Given the description of an element on the screen output the (x, y) to click on. 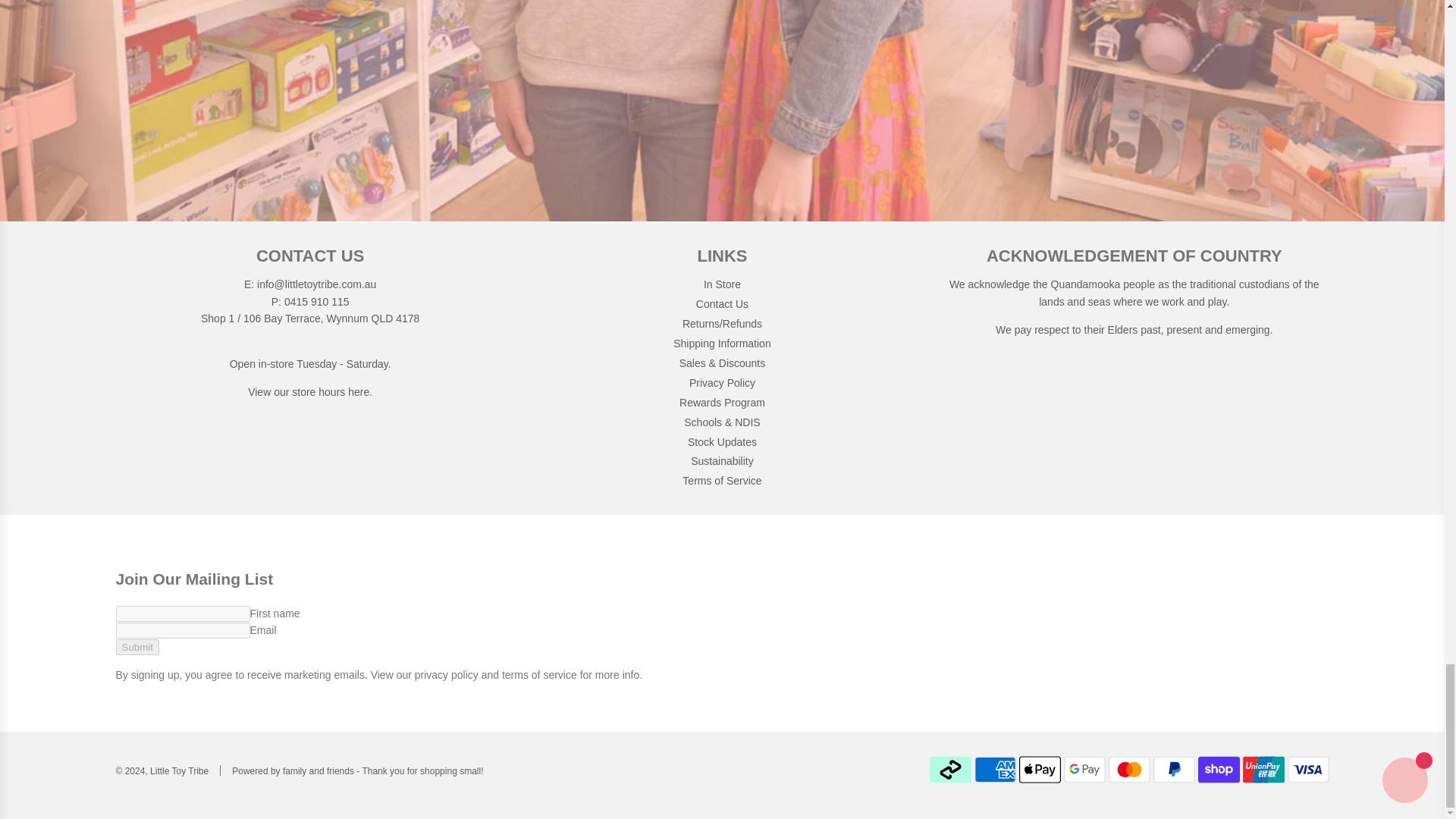
In Store (359, 391)
